Given the description of an element on the screen output the (x, y) to click on. 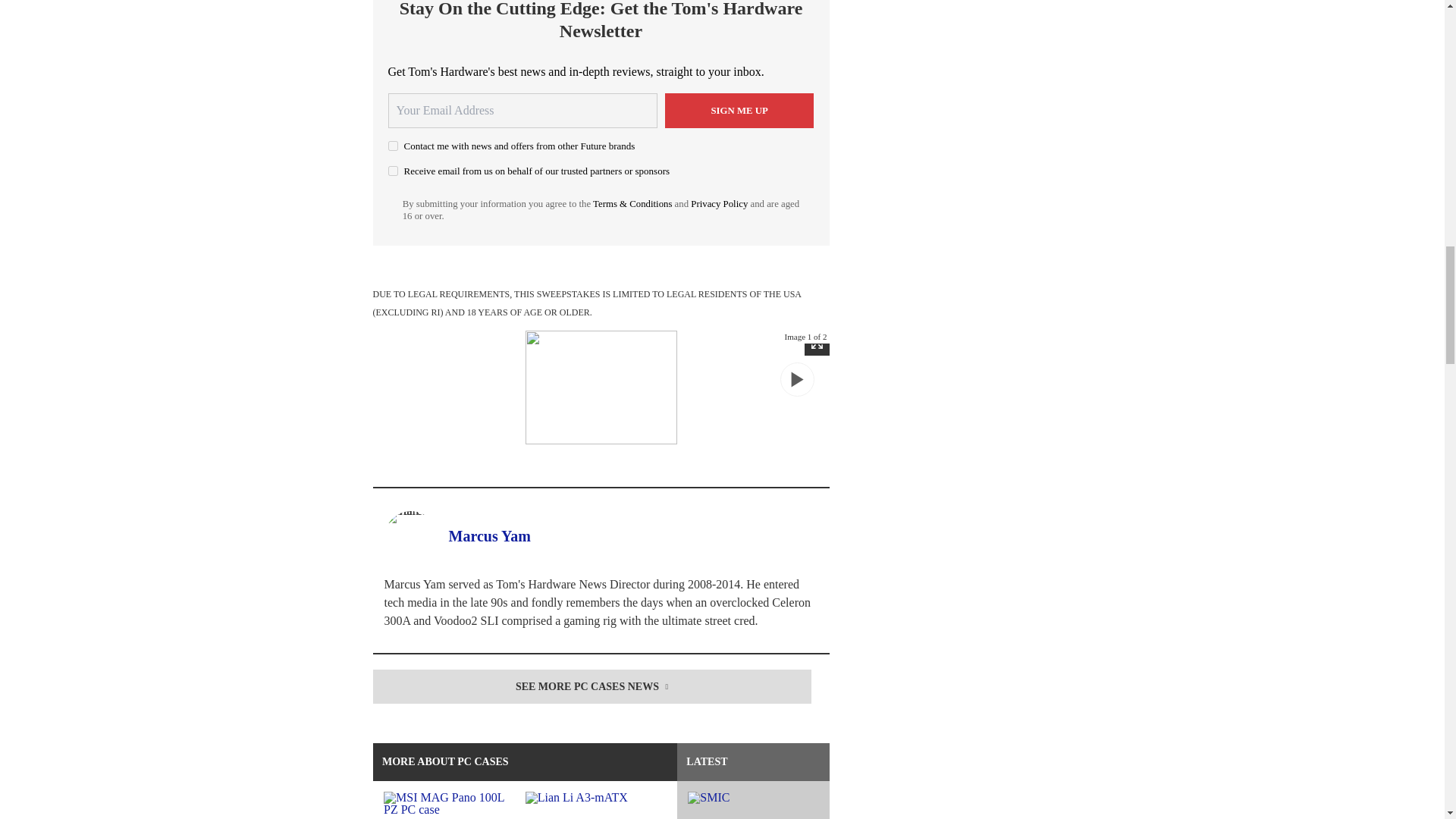
on (392, 145)
Sign me up (739, 110)
on (392, 171)
